Given the description of an element on the screen output the (x, y) to click on. 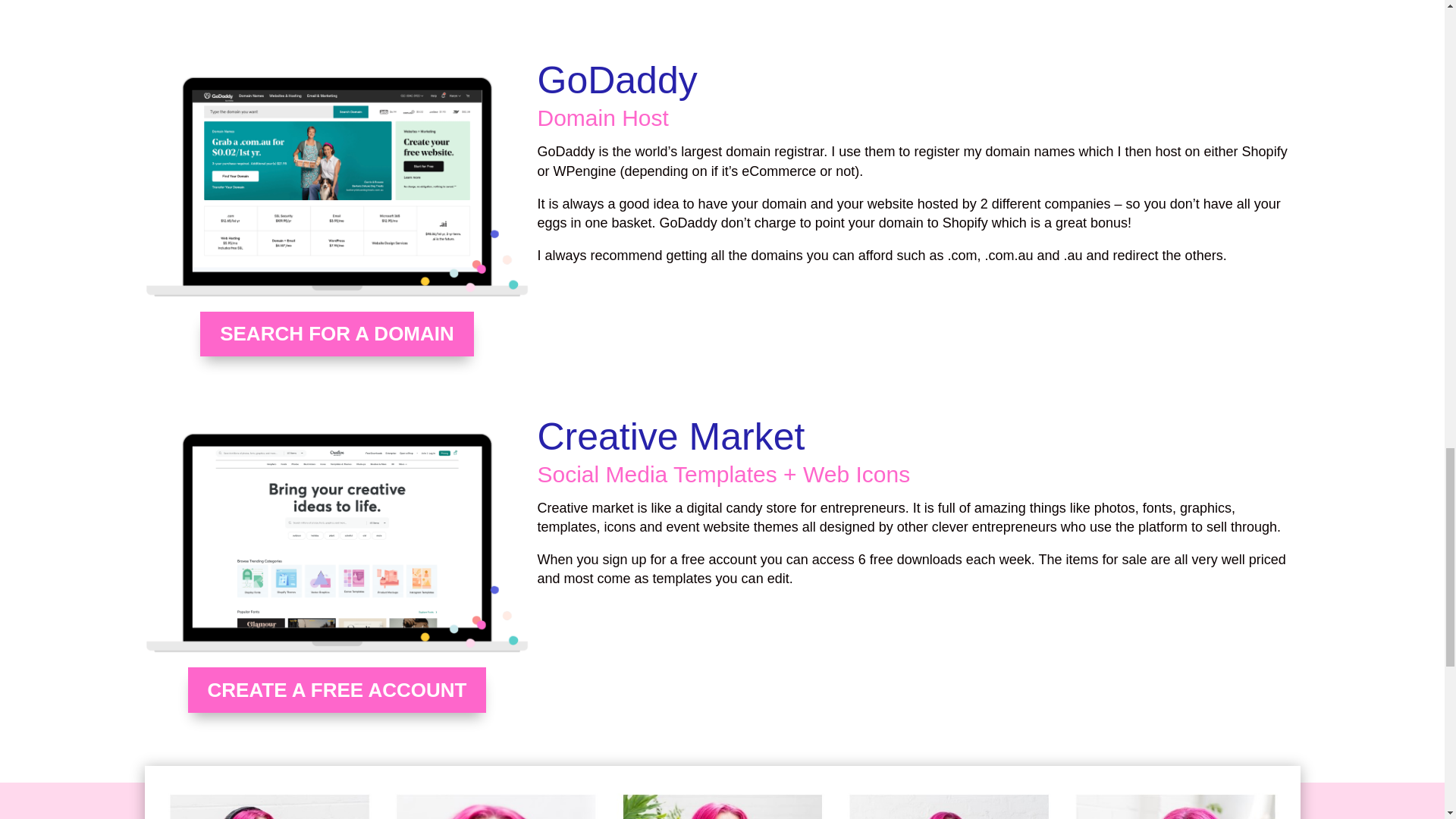
GoDaddy (336, 186)
SEARCH FOR A DOMAIN (337, 334)
Unstoppable eCommerce marketing course (722, 792)
CREATE A FREE ACCOUNT (336, 689)
Creative Market (336, 542)
